Given the description of an element on the screen output the (x, y) to click on. 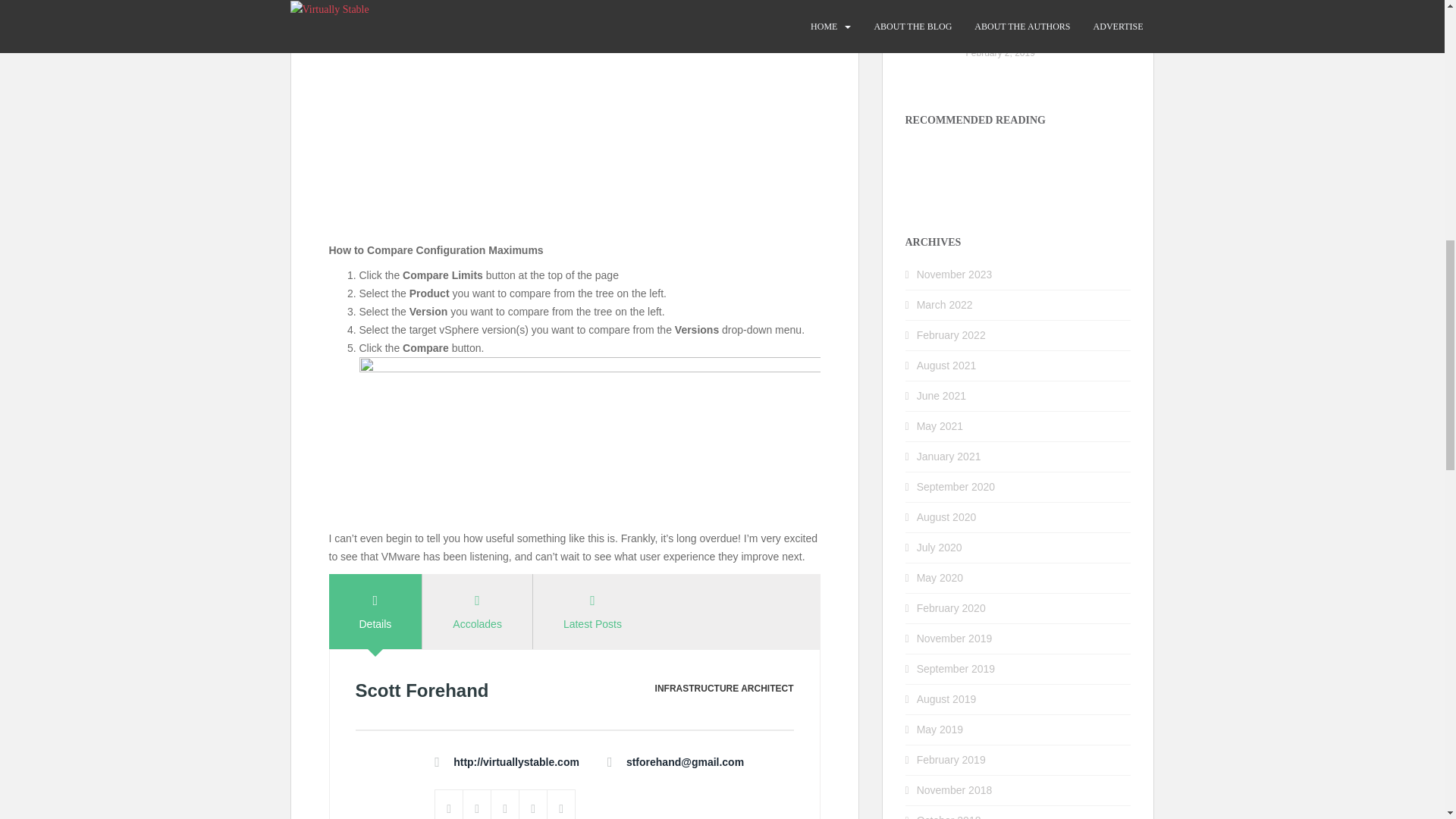
Scott Forehand (421, 690)
